Given the description of an element on the screen output the (x, y) to click on. 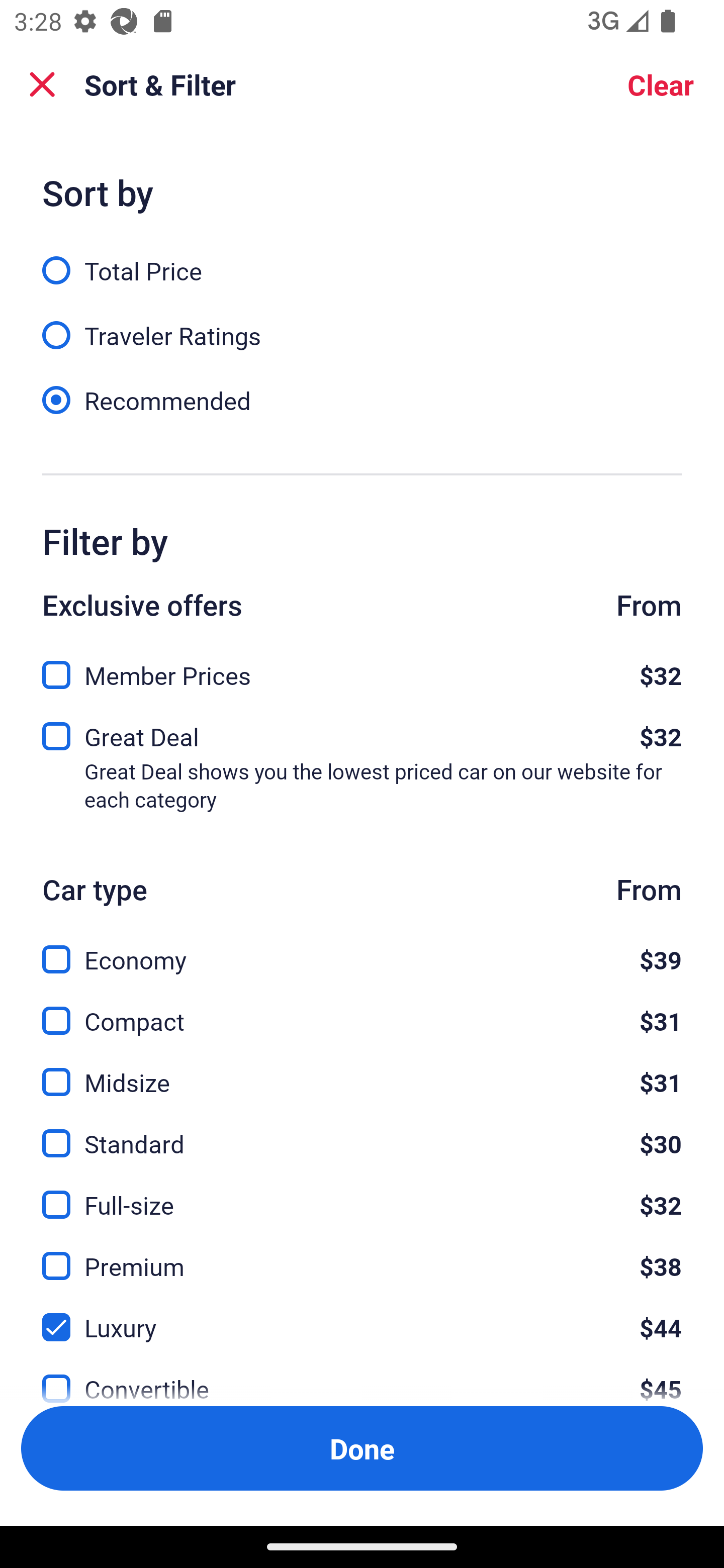
Close Sort and Filter (42, 84)
Clear (660, 84)
Total Price (361, 259)
Traveler Ratings (361, 324)
Member Prices, $32 Member Prices $32 (361, 669)
Economy, $39 Economy $39 (361, 947)
Compact, $31 Compact $31 (361, 1008)
Midsize, $31 Midsize $31 (361, 1070)
Standard, $30 Standard $30 (361, 1132)
Full-size, $32 Full-size $32 (361, 1193)
Premium, $38 Premium $38 (361, 1254)
Luxury, $44 Luxury $44 (361, 1315)
Convertible, $45 Convertible $45 (361, 1376)
Apply and close Sort and Filter Done (361, 1448)
